Given the description of an element on the screen output the (x, y) to click on. 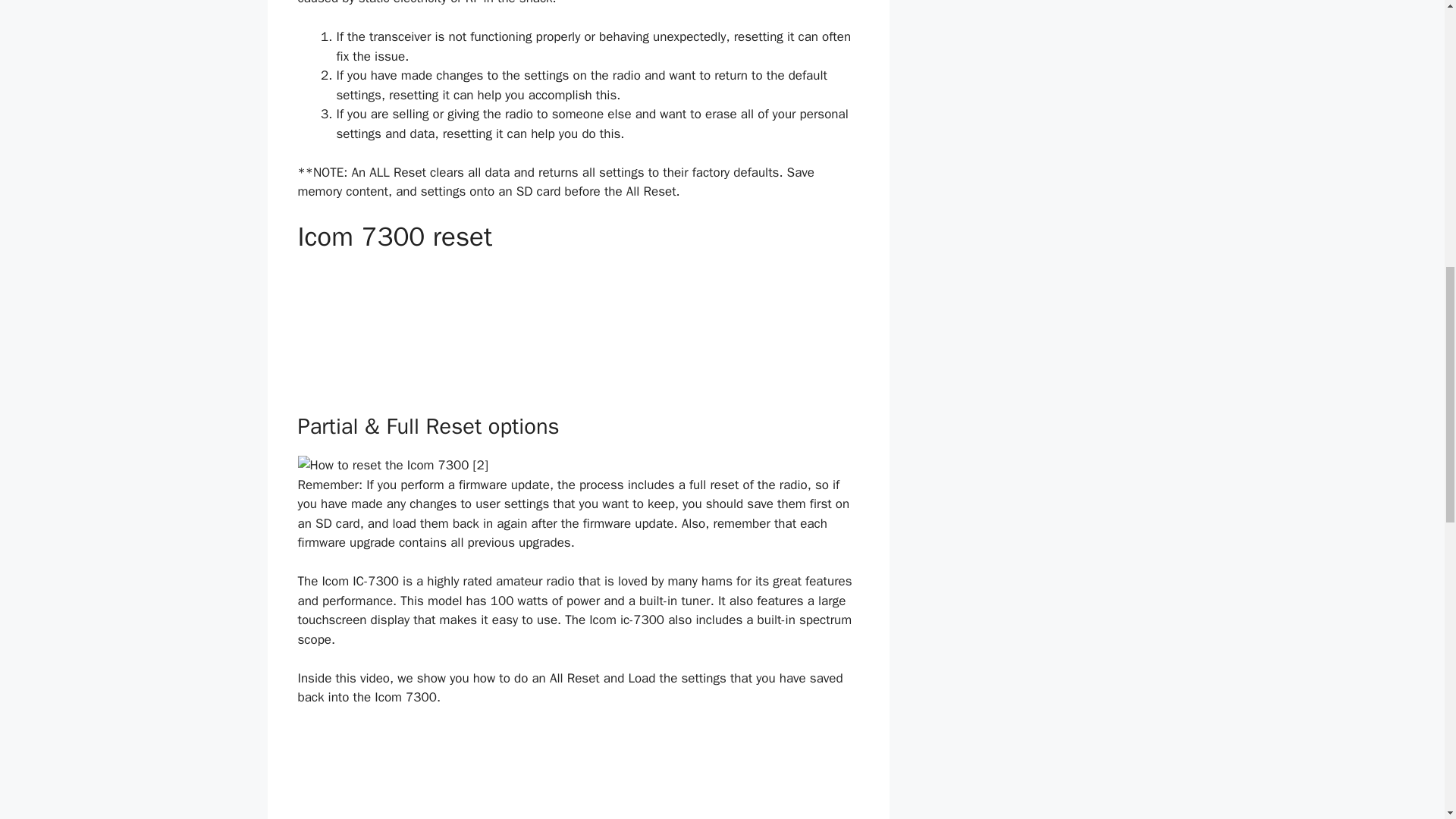
Scroll back to top (1406, 720)
7300 All reset n Load settings (578, 772)
